Given the description of an element on the screen output the (x, y) to click on. 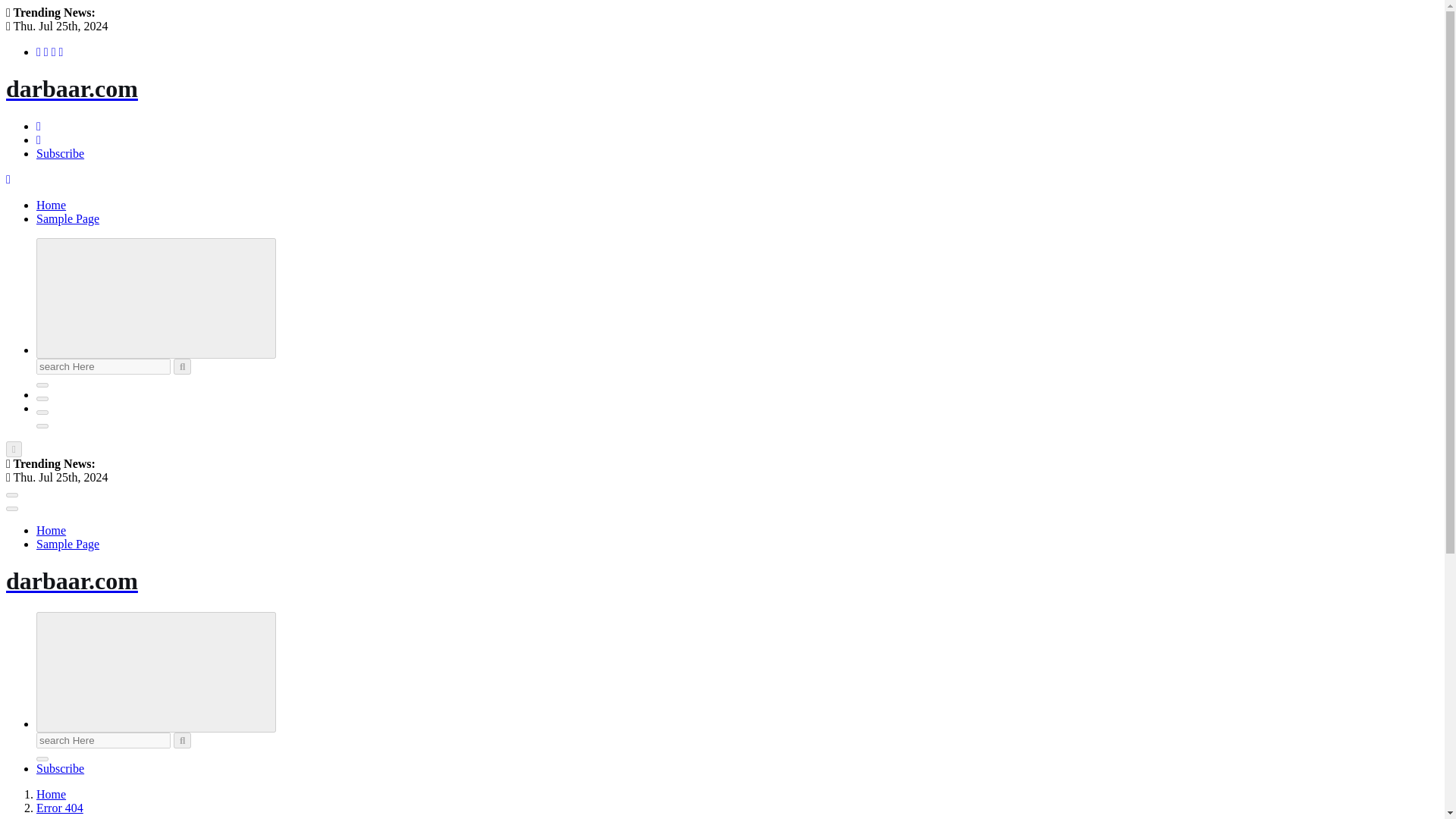
Sample Page (67, 218)
Error 404 (59, 807)
Home (50, 793)
Home (50, 205)
Sample Page (67, 543)
Home (50, 530)
Home (50, 205)
Subscribe (60, 153)
Home (50, 530)
Subscribe (60, 768)
